Given the description of an element on the screen output the (x, y) to click on. 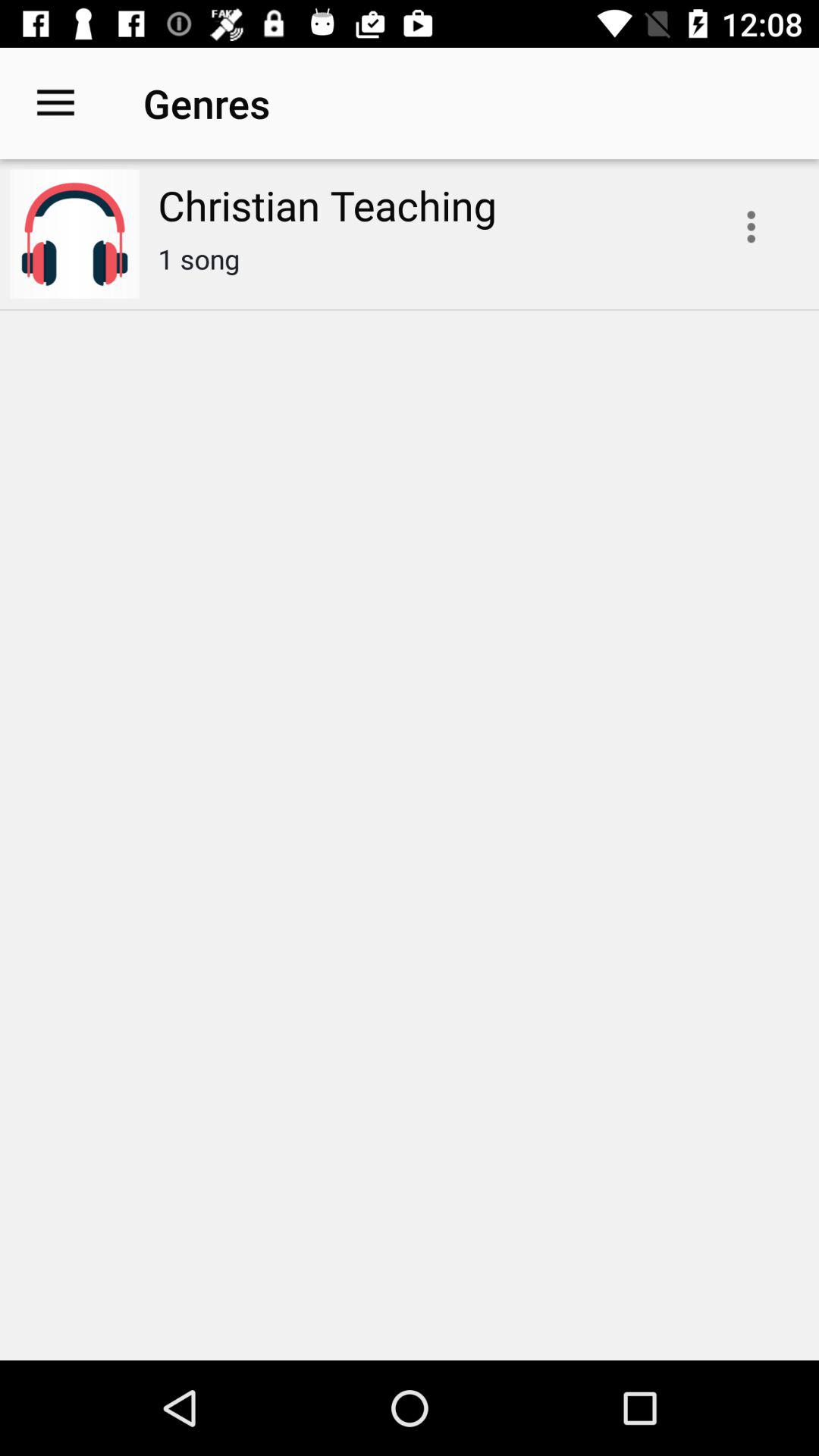
turn off the icon at the top right corner (750, 226)
